Given the description of an element on the screen output the (x, y) to click on. 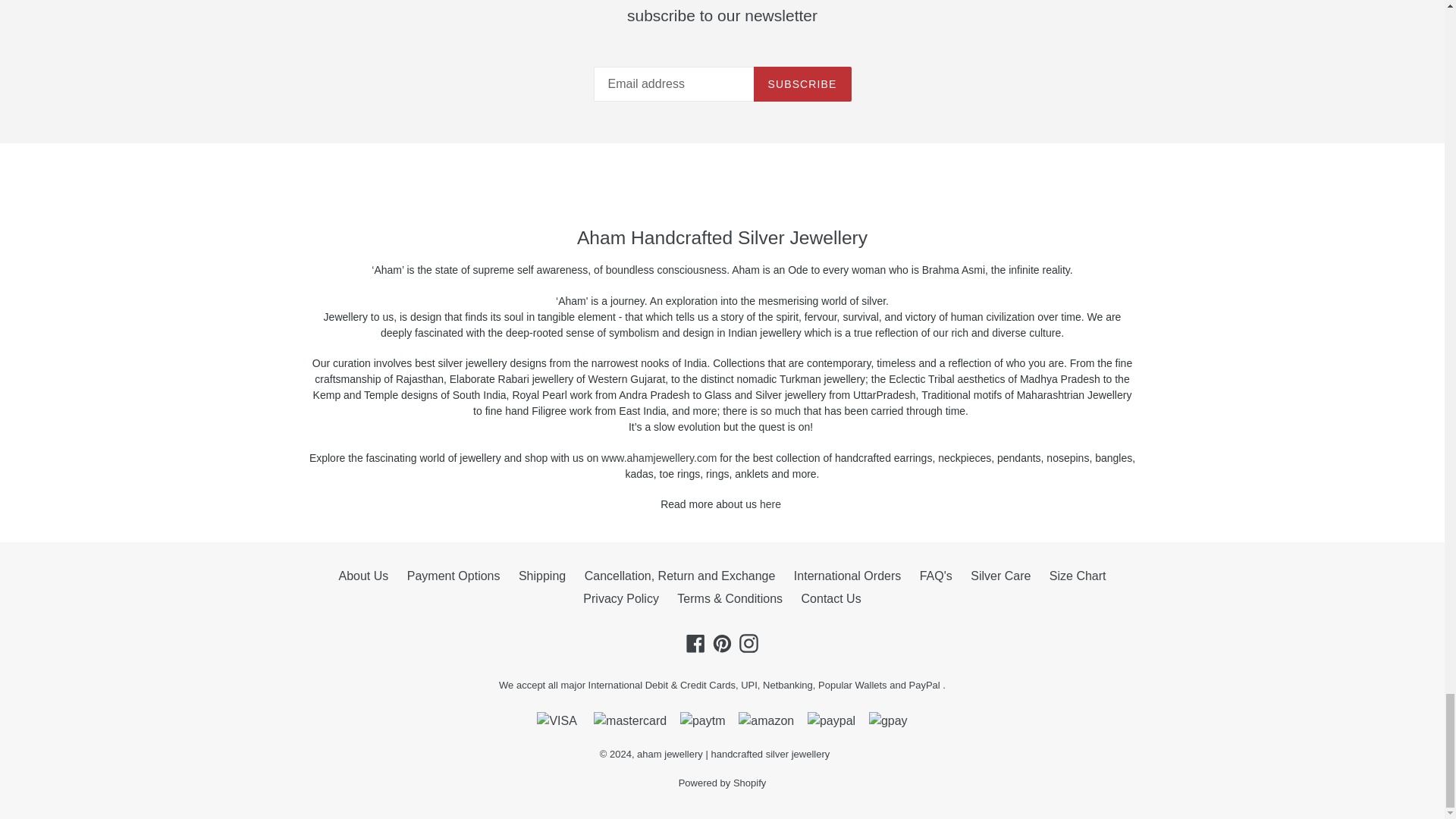
About Us (772, 503)
